Given the description of an element on the screen output the (x, y) to click on. 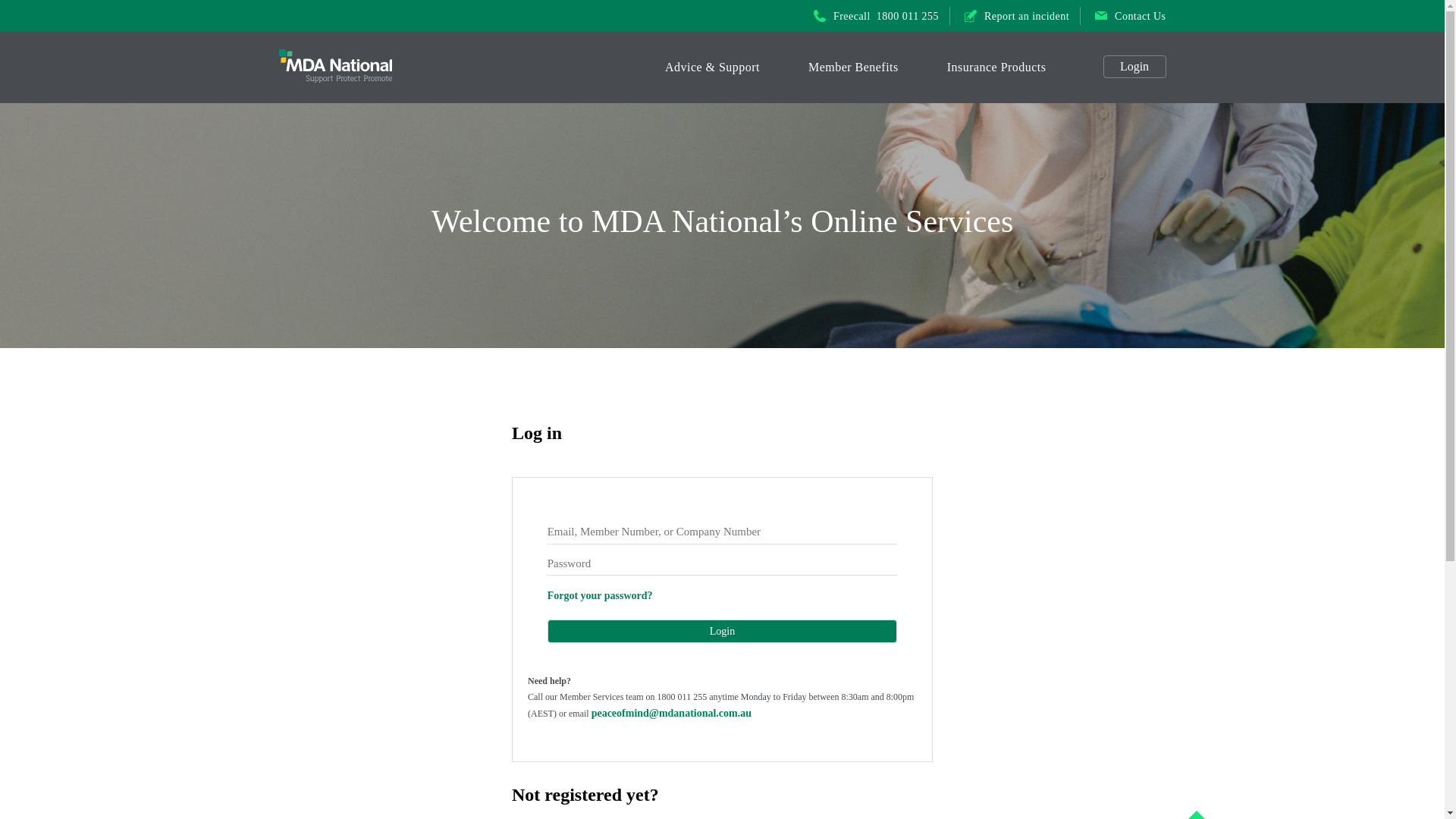
Login Element type: text (722, 631)
peaceofmind@mdanational.com.au Element type: text (671, 712)
Forgot your password? Element type: text (599, 595)
